Given the description of an element on the screen output the (x, y) to click on. 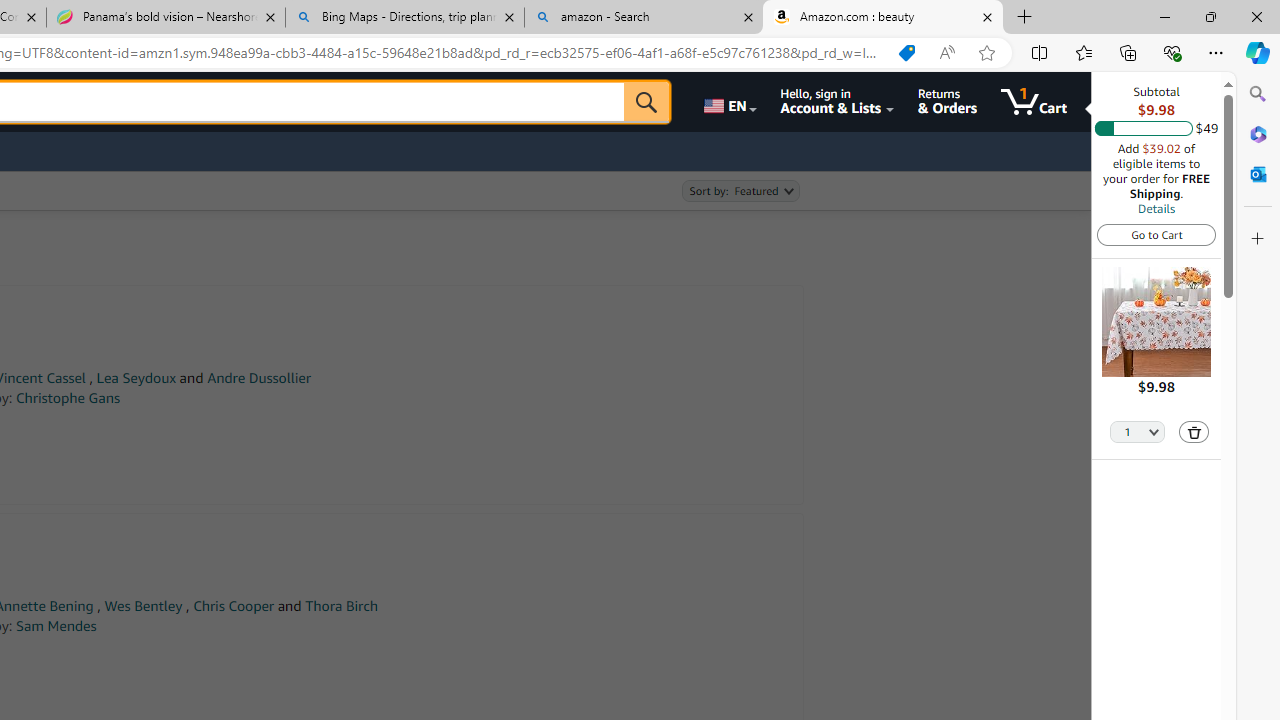
Amazon.com : beauty (883, 17)
Choose a language for shopping. (728, 101)
Wes Bentley (143, 606)
Delete (1193, 431)
Thora Birch (340, 606)
Sam Mendes (56, 626)
Sort by: (740, 191)
Go to Cart (1156, 234)
